Given the description of an element on the screen output the (x, y) to click on. 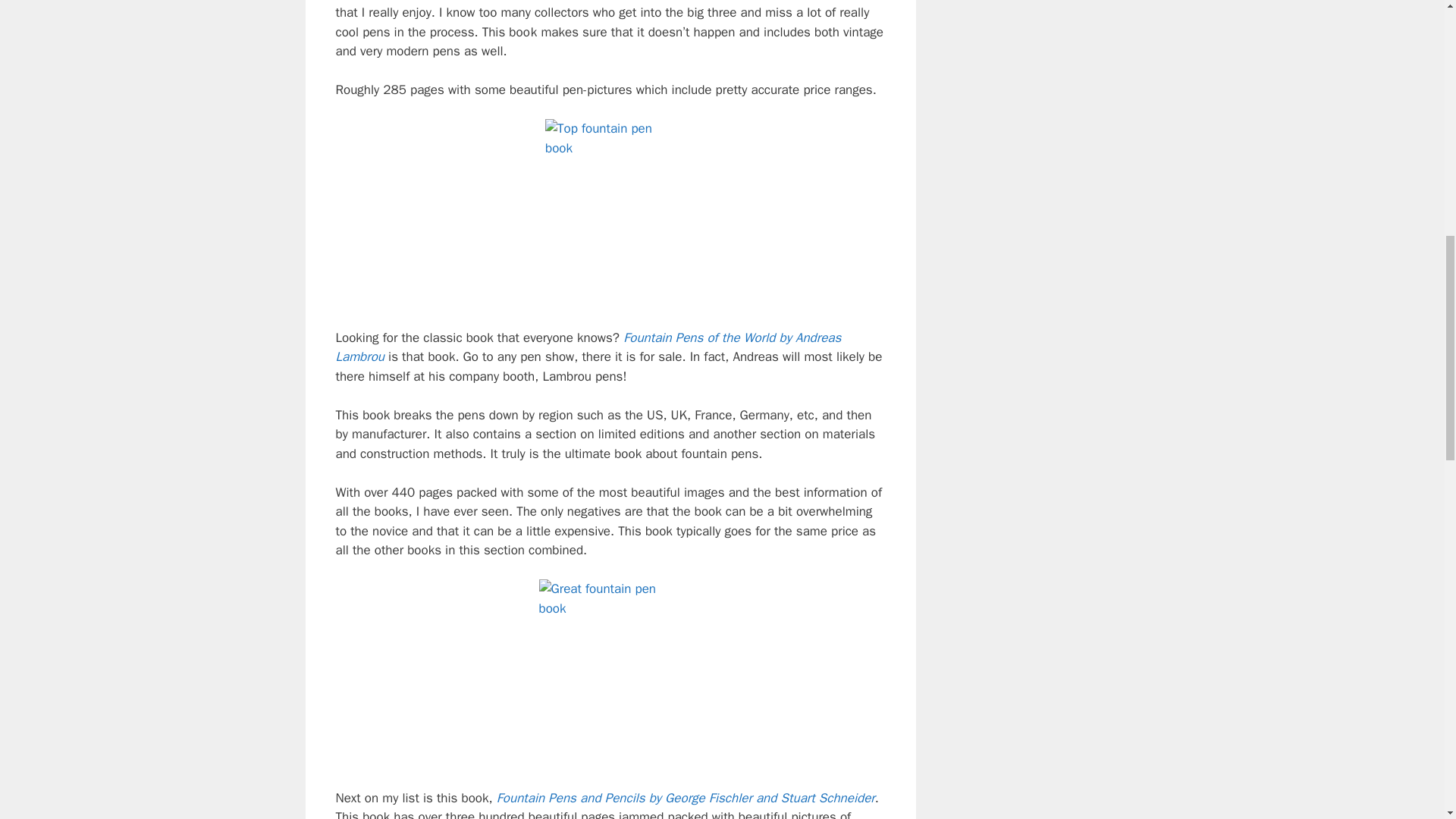
Fountain Pens of the World by Andreas Lambrou (587, 347)
